Given the description of an element on the screen output the (x, y) to click on. 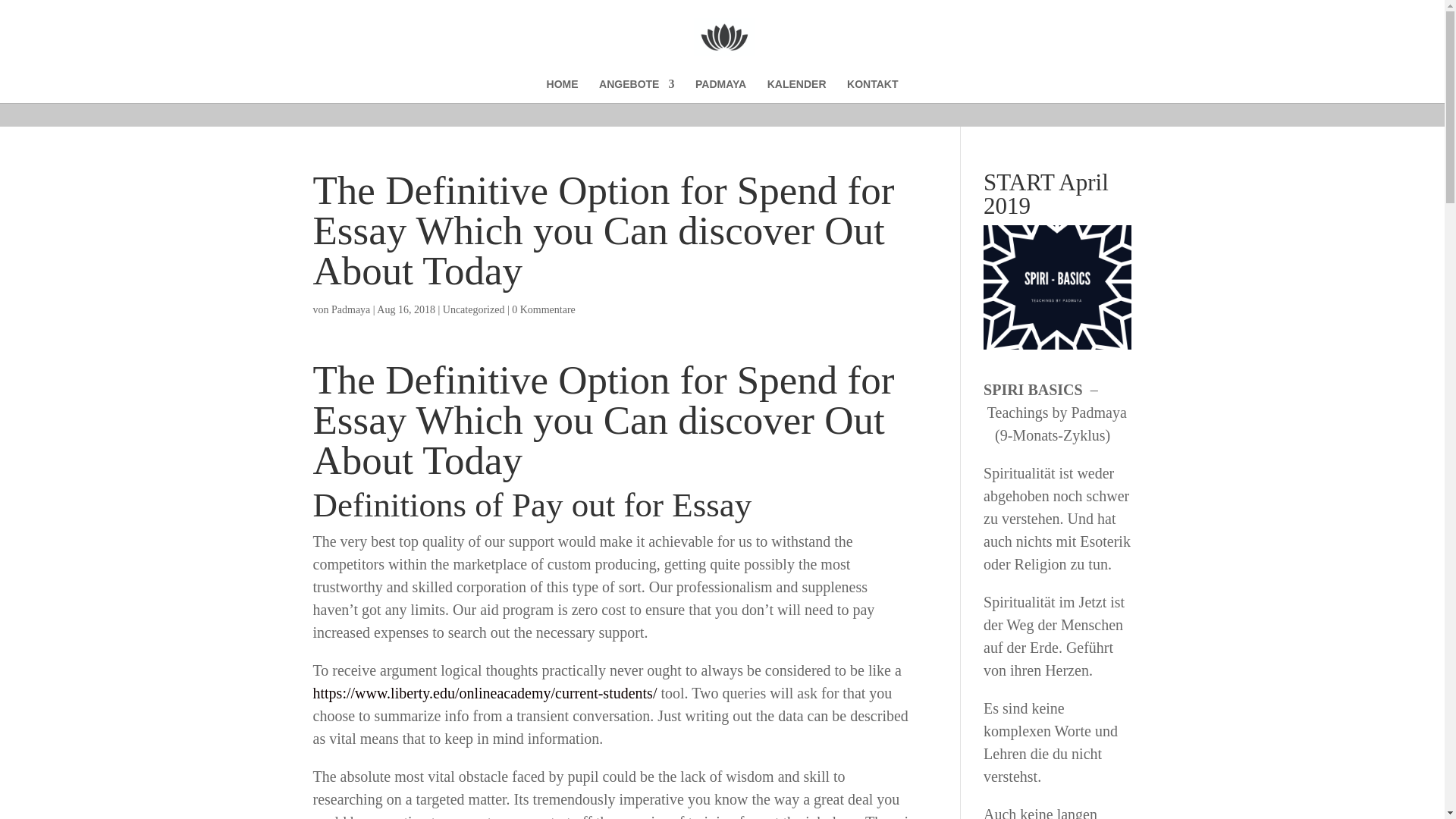
PADMAYA (720, 90)
ANGEBOTE (636, 90)
KONTAKT (872, 90)
KALENDER (797, 90)
Padmaya (350, 309)
Uncategorized (473, 309)
0 Kommentare (543, 309)
HOME (562, 90)
